Given the description of an element on the screen output the (x, y) to click on. 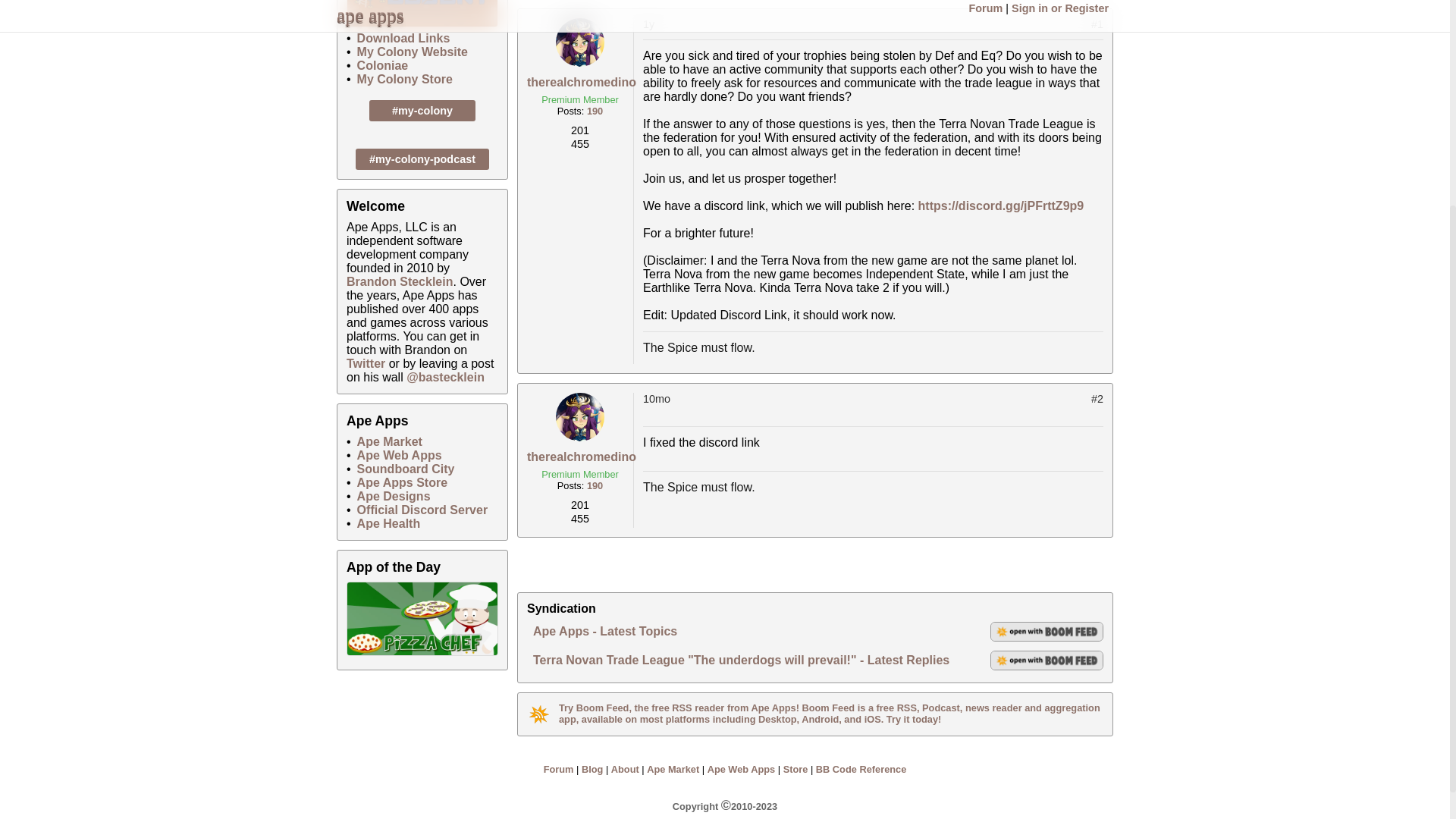
Ape Market (389, 440)
Soundboard City (405, 468)
therealchromedino (581, 82)
Ape Market (672, 768)
Ape Web Apps (399, 454)
Forum (558, 768)
Pizza Chef (421, 618)
Ape Web Apps (741, 768)
Official Discord Server (421, 509)
190 (594, 111)
Reputation (580, 132)
My Colony Website (411, 51)
Coloniae (382, 65)
My Colony Store (404, 78)
Reputation (580, 506)
